Given the description of an element on the screen output the (x, y) to click on. 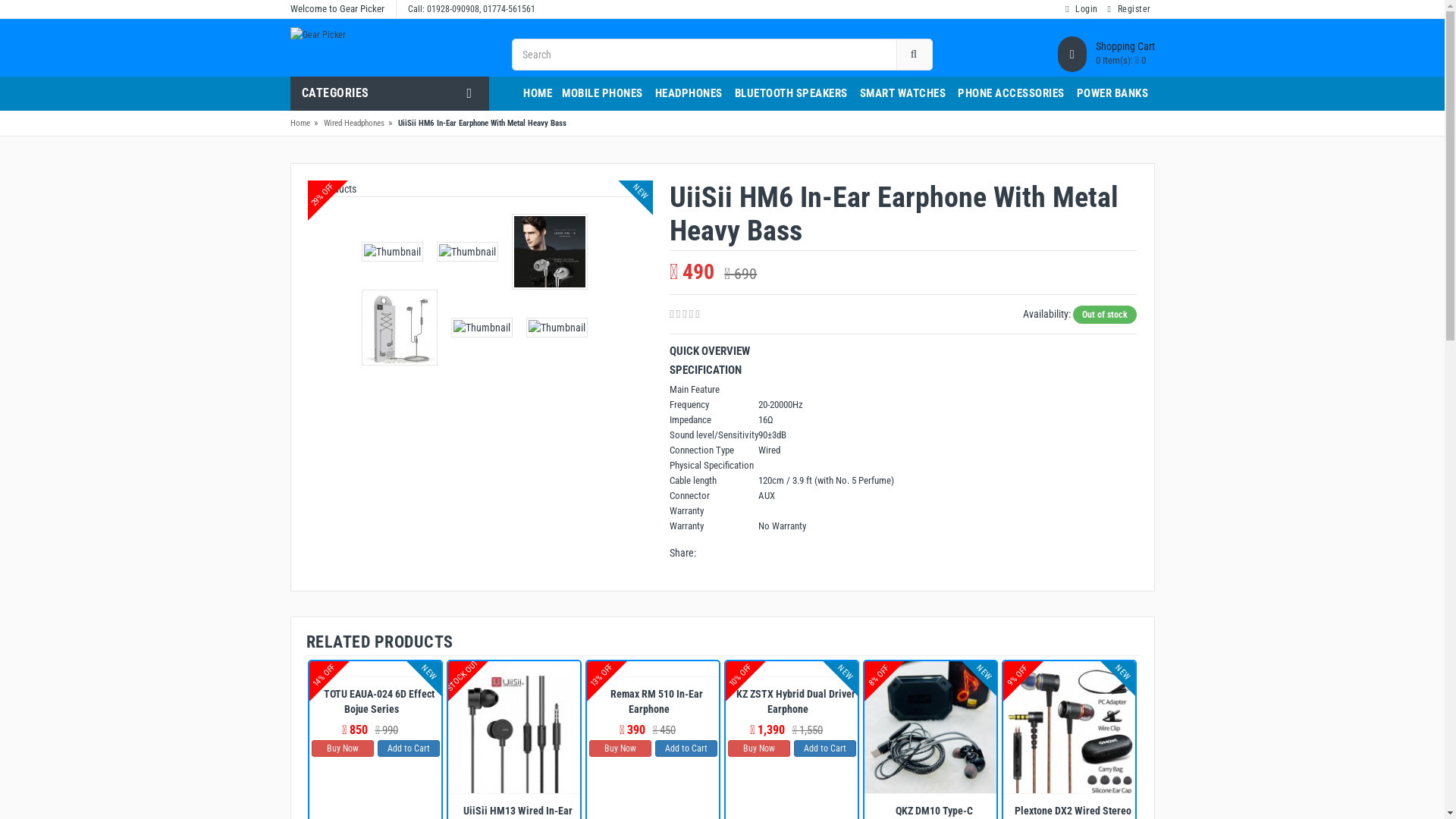
Register Element type: text (1129, 9)
Remax RM 510 In-Ear Earphone Element type: text (652, 700)
Login Element type: text (1081, 9)
Add to Cart Element type: text (824, 748)
BLUETOOTH SPEAKERS Element type: text (790, 93)
Add to Cart Element type: text (408, 748)
QKZ DM10 Type-C Earphone Element type: hover (930, 727)
PHONE ACCESSORIES Element type: text (1010, 93)
POWER BANKS Element type: text (1112, 93)
Wired Headphones Element type: text (353, 123)
Remax RM 510 In-Ear Earphone Element type: hover (652, 668)
SMART WATCHES Element type: text (902, 93)
Home Element type: text (299, 123)
Plextone DX2 Wired Stereo in-Ear Earphones Element type: hover (1069, 727)
Buy Now Element type: text (341, 748)
TOTU EAUA-024 6D Effect Bojue Series Element type: text (375, 700)
HEADPHONES Element type: text (688, 93)
Buy Now Element type: text (619, 748)
MOBILE PHONES Element type: text (602, 93)
TOTU EAUA-024 6D Effect Bojue Series Element type: hover (375, 668)
Buy Now Element type: text (759, 748)
KZ ZSTX Hybrid Dual Driver Earphone Element type: hover (791, 668)
HOME Element type: text (537, 93)
Add to Cart Element type: text (686, 748)
KZ ZSTX Hybrid Dual Driver Earphone Element type: text (791, 700)
UiiSii HM13 Wired In-Ear Headphone Element type: hover (514, 727)
